Given the description of an element on the screen output the (x, y) to click on. 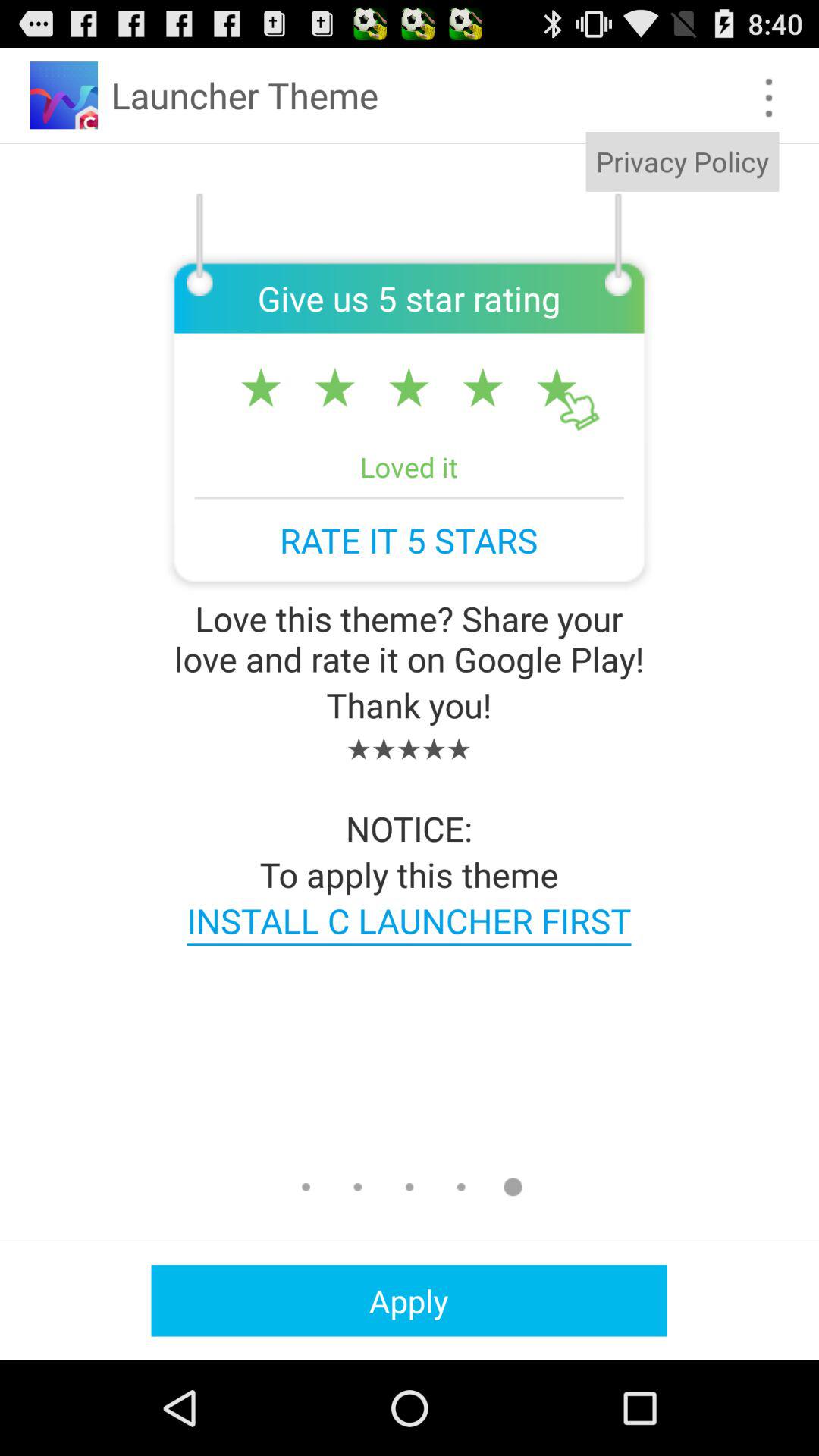
choose item above the privacy policy item (768, 97)
